Given the description of an element on the screen output the (x, y) to click on. 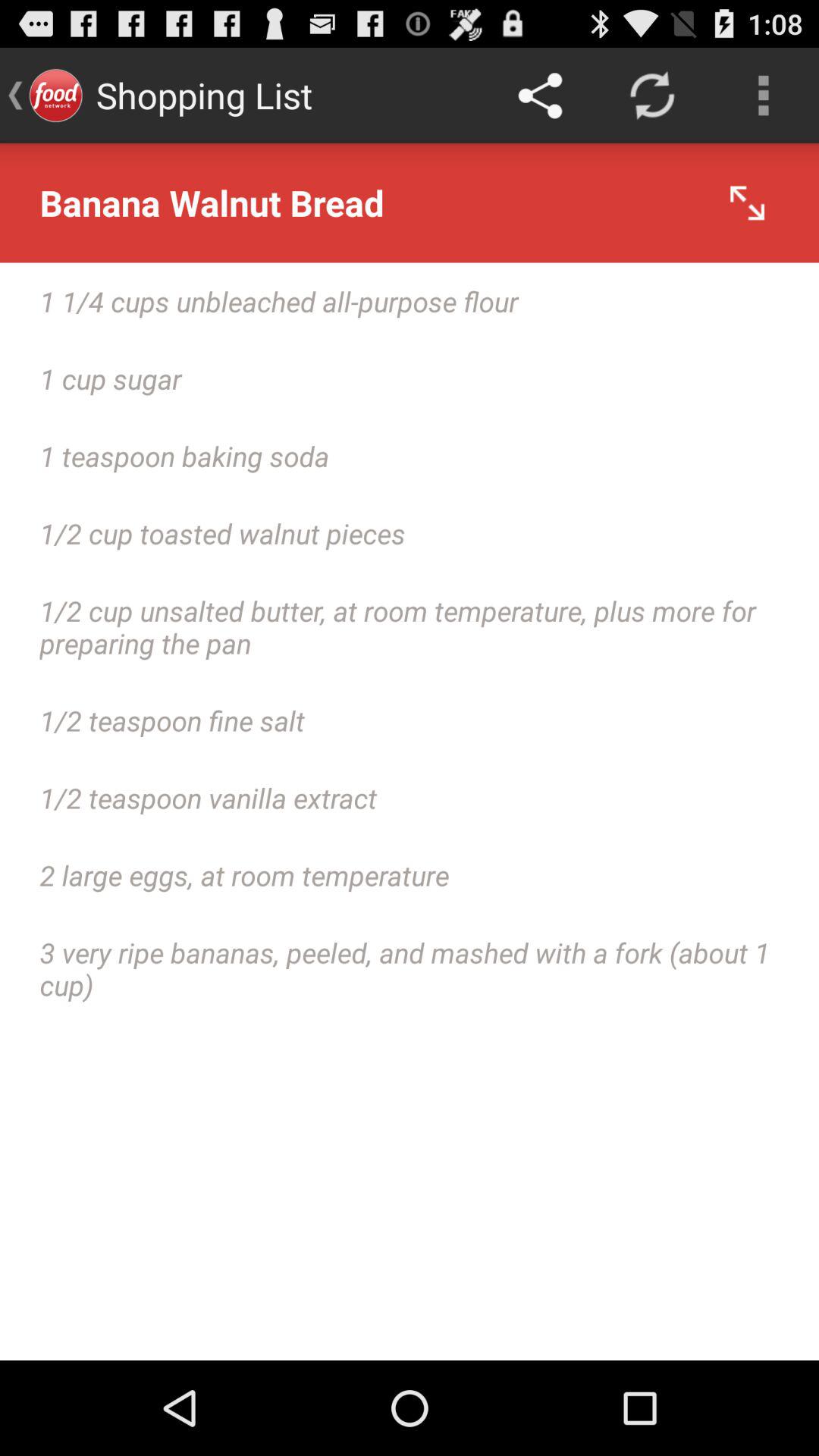
select item to the right of the shopping list (540, 95)
